Given the description of an element on the screen output the (x, y) to click on. 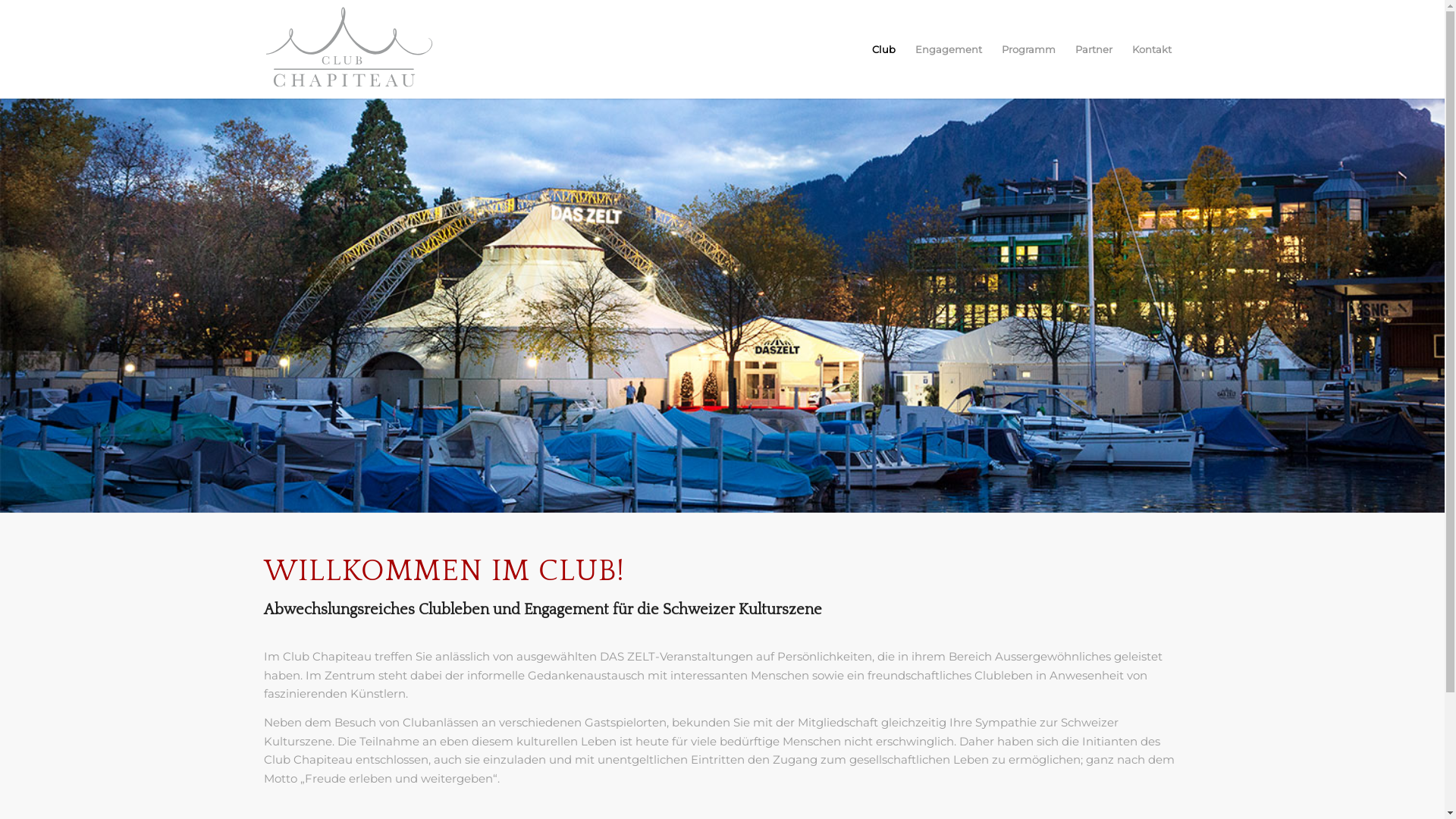
Club Element type: text (882, 49)
Kontakt Element type: text (1151, 49)
Engagement Element type: text (948, 49)
header_zelt_luzern_3031 Element type: hover (722, 305)
Partner Element type: text (1092, 49)
Programm Element type: text (1028, 49)
